Given the description of an element on the screen output the (x, y) to click on. 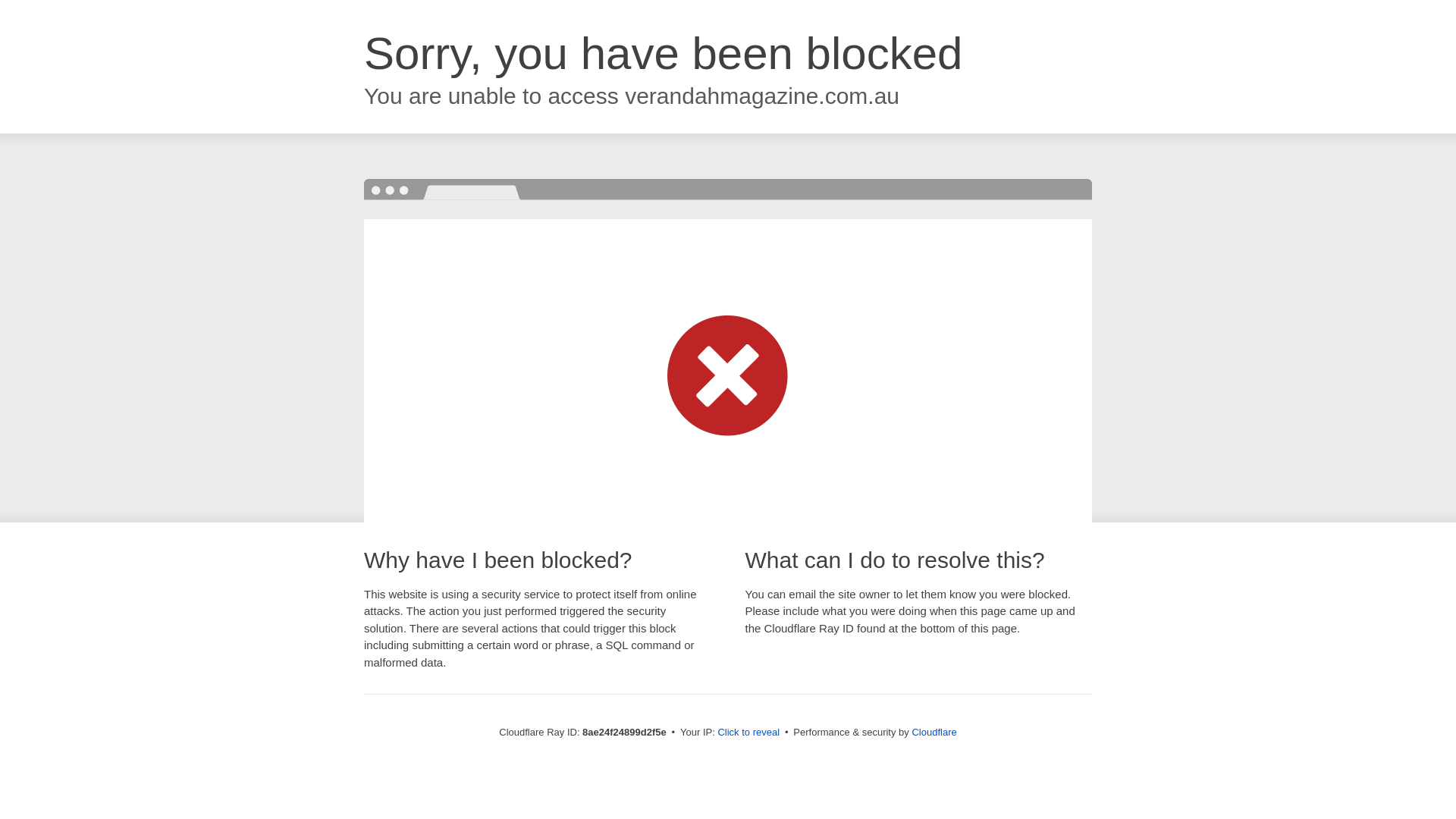
Click to reveal (747, 732)
Cloudflare (933, 731)
